Given the description of an element on the screen output the (x, y) to click on. 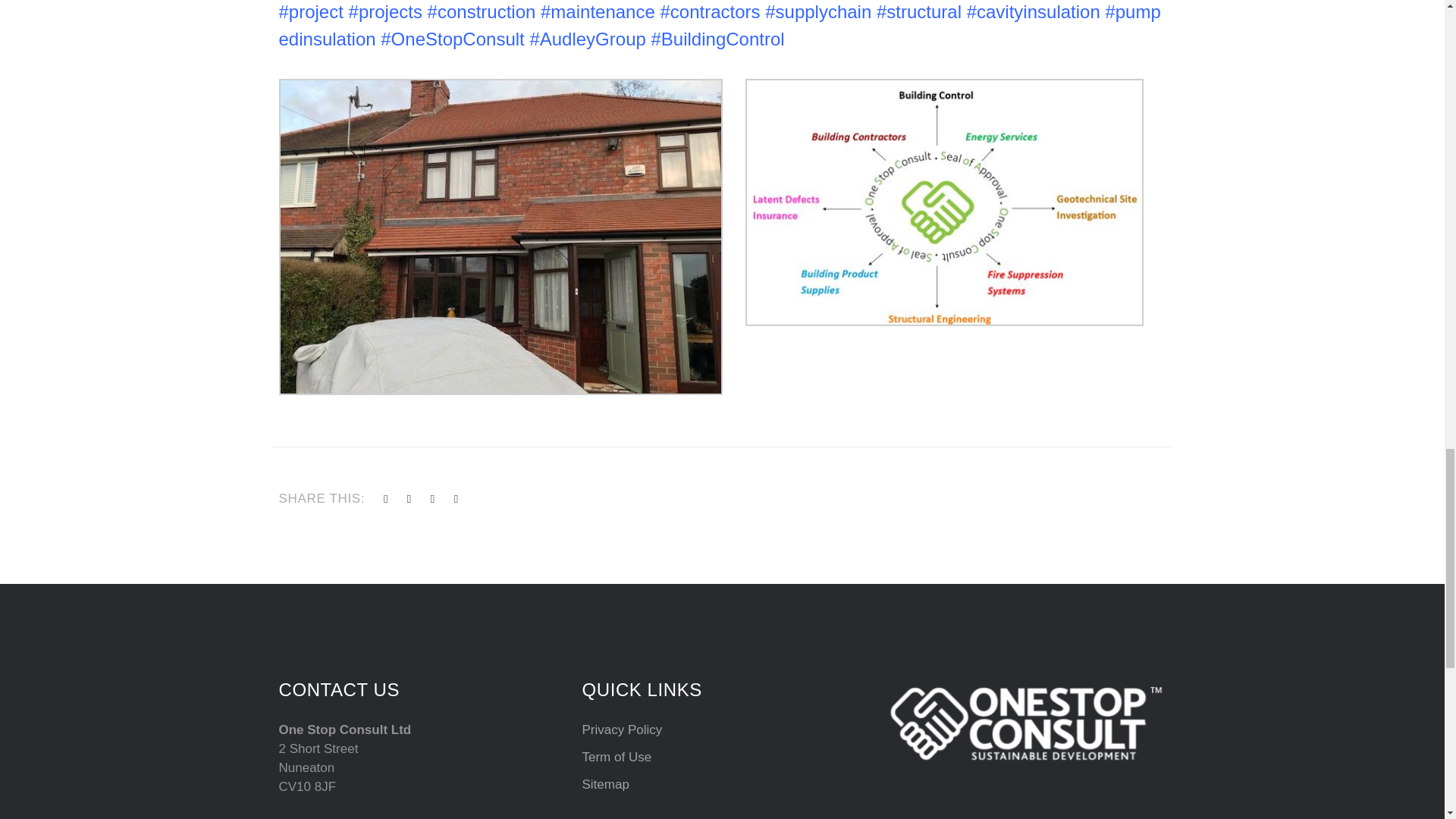
Term of Use (615, 756)
Privacy Policy (621, 729)
Sitemap (604, 783)
Share this article to GooglePlus (432, 498)
Share this article to Linkedin (456, 498)
Share this article to Facebook (409, 498)
02475 095700 (348, 818)
Share this article to Twitter (386, 498)
